Given the description of an element on the screen output the (x, y) to click on. 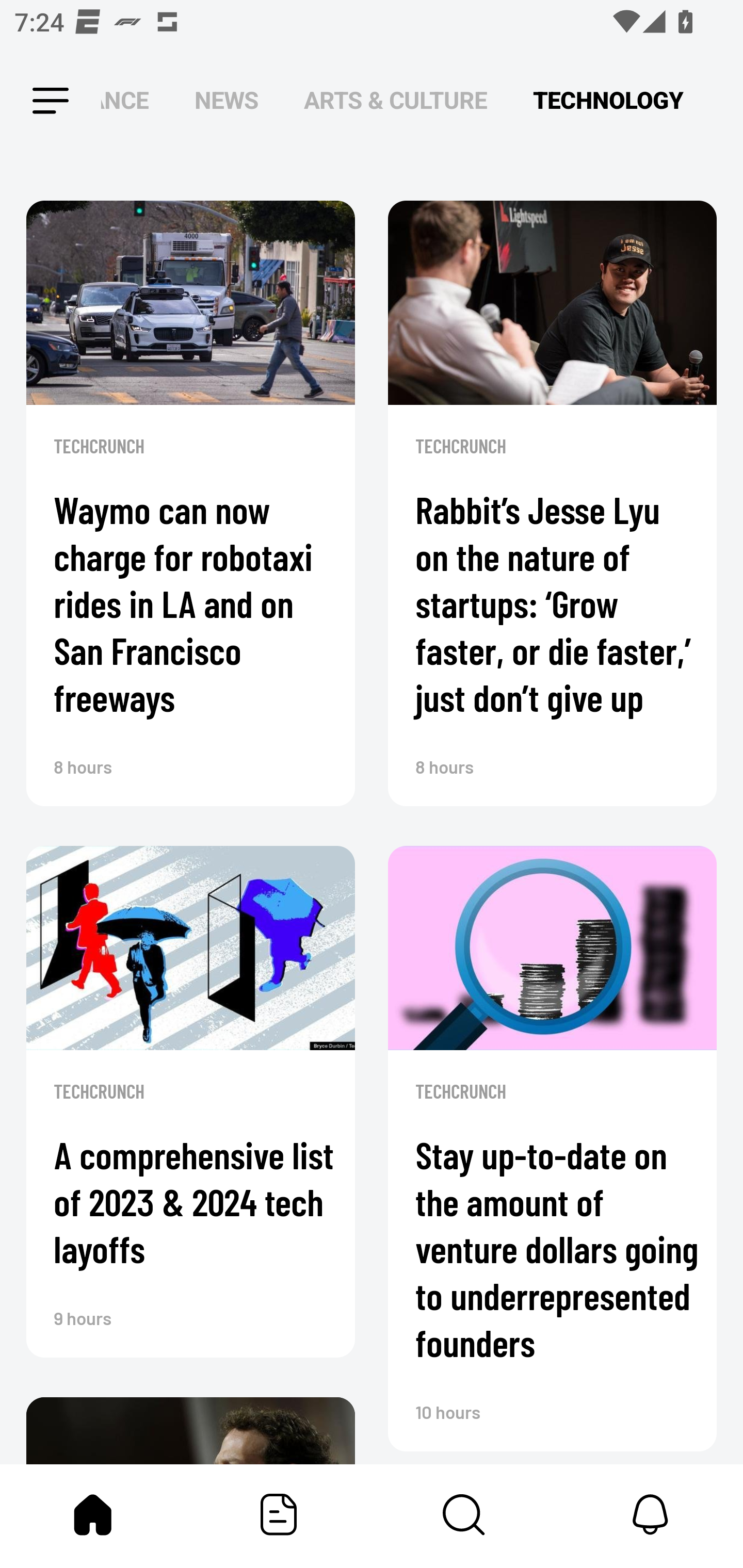
BUSINESS & FINANCE (125, 100)
NEWS (226, 100)
ARTS & CULTURE (395, 100)
Featured (278, 1514)
Content Store (464, 1514)
Notifications (650, 1514)
